Given the description of an element on the screen output the (x, y) to click on. 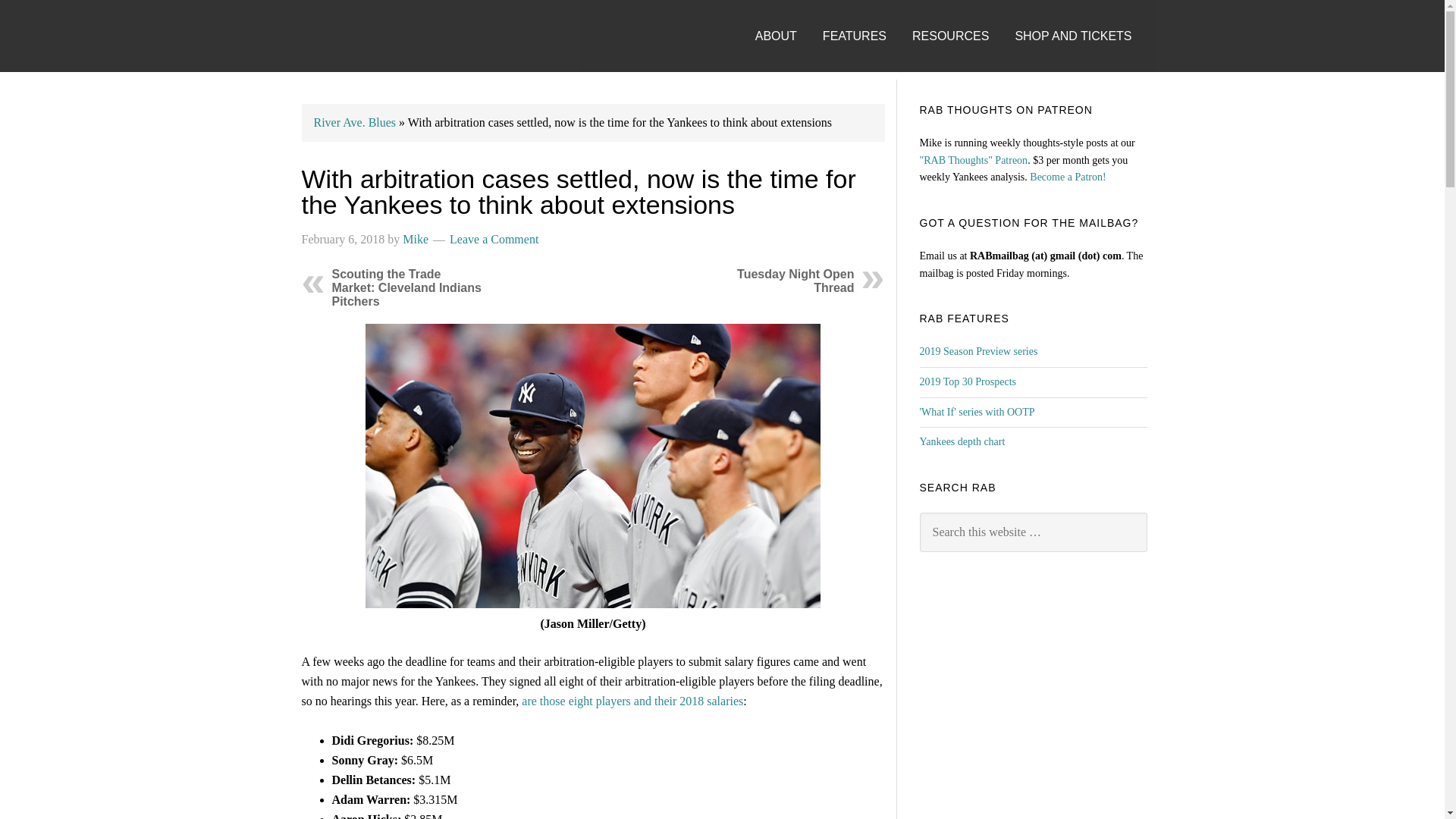
RIVER AVENUE BLUES (334, 36)
River Ave. Blues (355, 122)
ABOUT (787, 21)
Mike (415, 238)
are those eight players and their 2018 salaries (631, 700)
FEATURES (865, 21)
RESOURCES (961, 21)
"RAB Thoughts" Patreon (972, 160)
Scouting the Trade Market: Cleveland Indians Pitchers (406, 287)
SHOP AND TICKETS (1084, 21)
Tuesday Night Open Thread (794, 280)
Leave a Comment (493, 238)
